Given the description of an element on the screen output the (x, y) to click on. 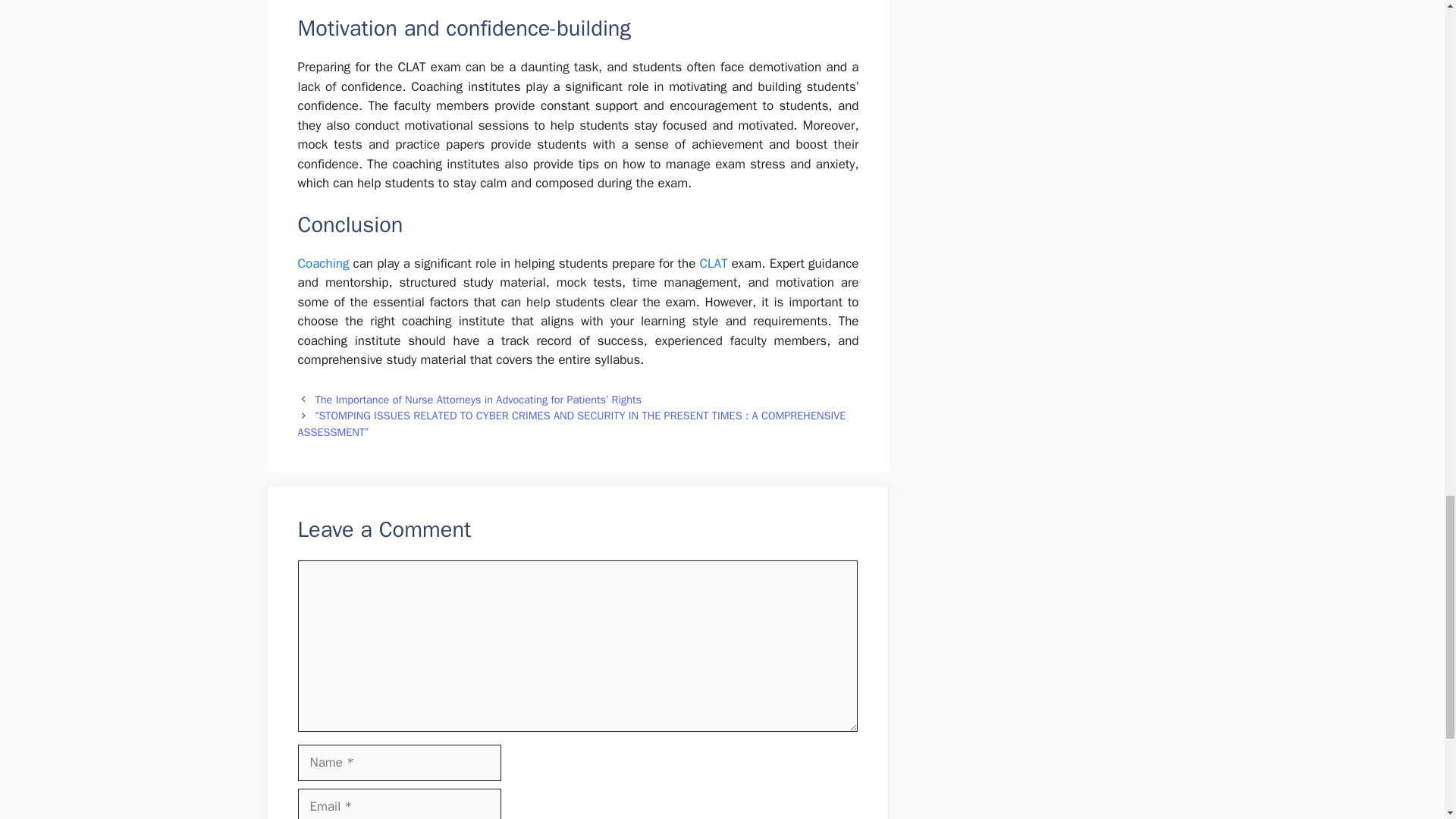
Coaching (323, 263)
